Given the description of an element on the screen output the (x, y) to click on. 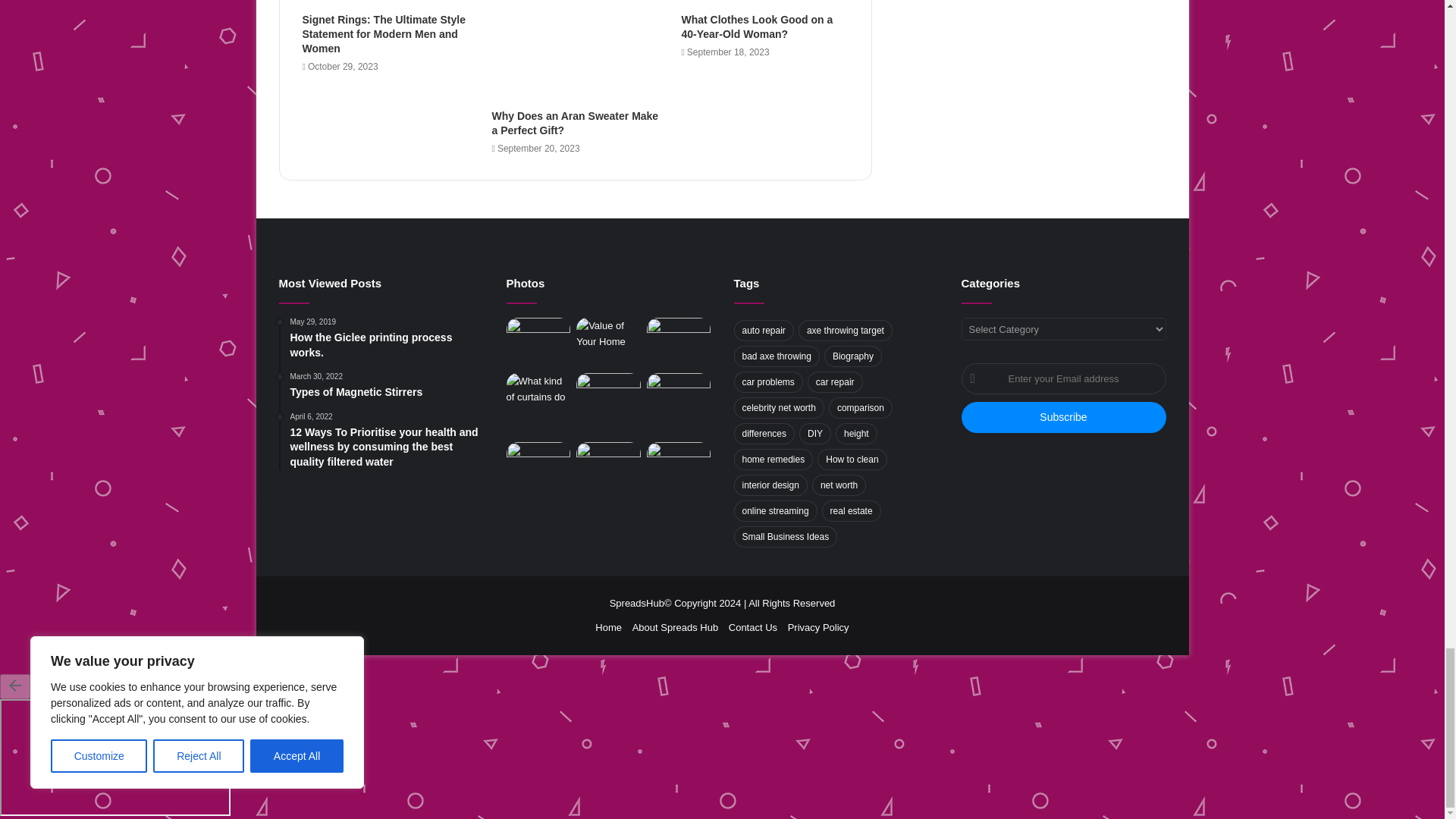
Subscribe (1063, 417)
